Given the description of an element on the screen output the (x, y) to click on. 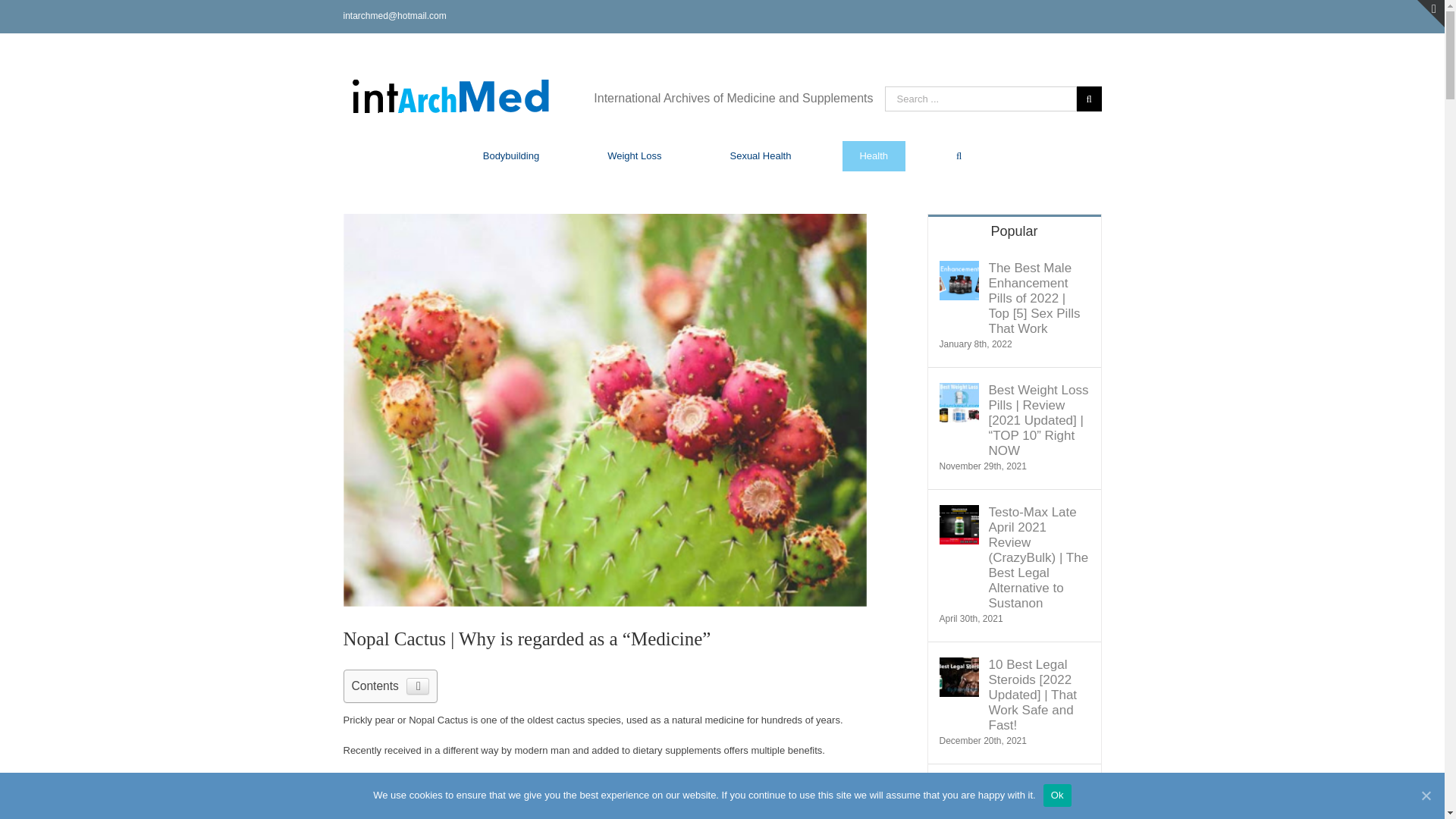
Search (958, 155)
Bodybuilding (510, 155)
Sexual Health (760, 155)
PhenQ (358, 780)
Weight Loss (634, 155)
Health (874, 155)
